Given the description of an element on the screen output the (x, y) to click on. 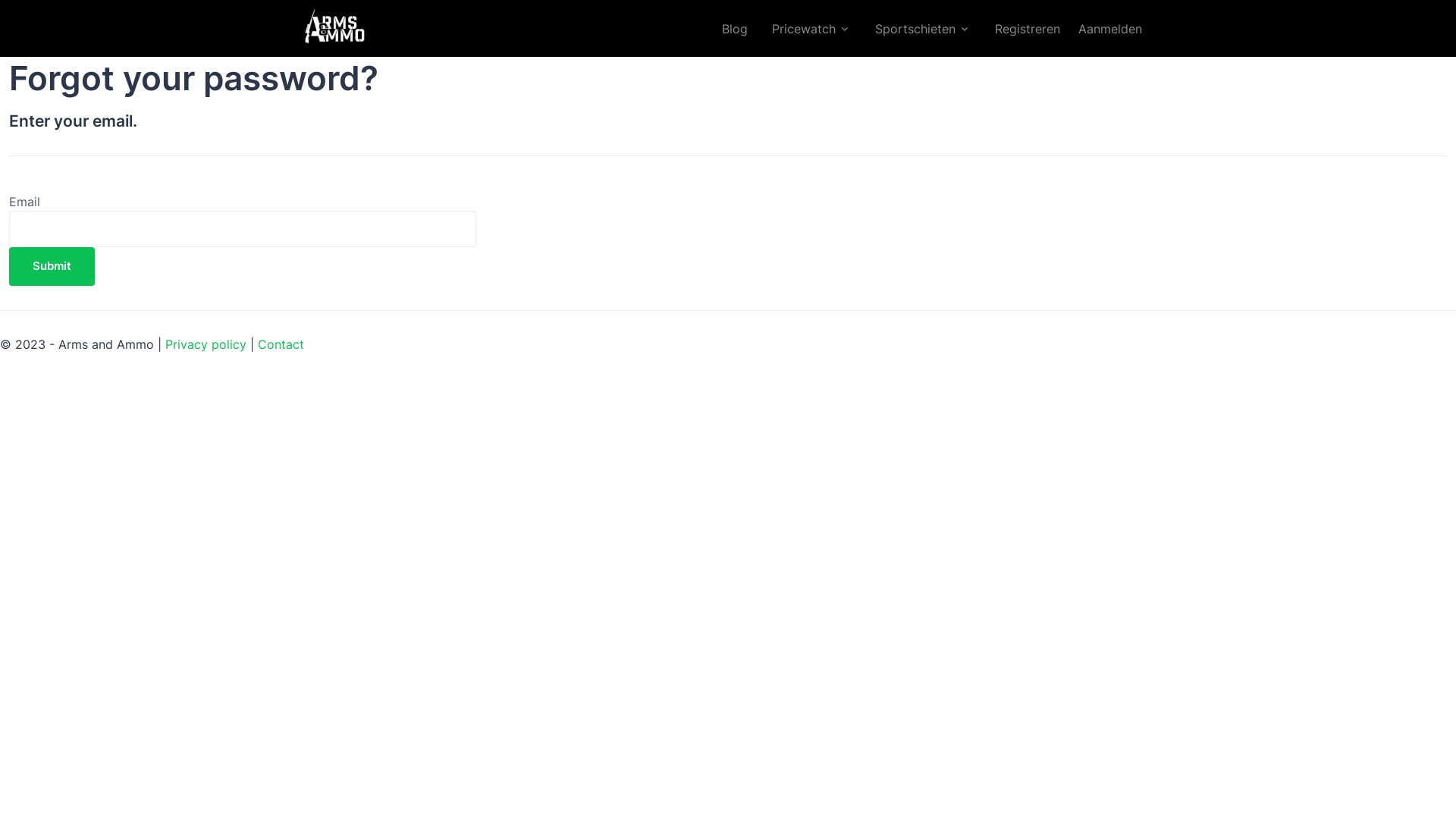
Registreren Element type: text (1027, 28)
Blog Element type: text (734, 28)
Submit Element type: text (51, 266)
Contact Element type: text (280, 343)
Privacy policy Element type: text (205, 343)
Pricewatch Element type: text (810, 28)
Aanmelden Element type: text (1110, 28)
Sportschieten Element type: text (922, 28)
